Given the description of an element on the screen output the (x, y) to click on. 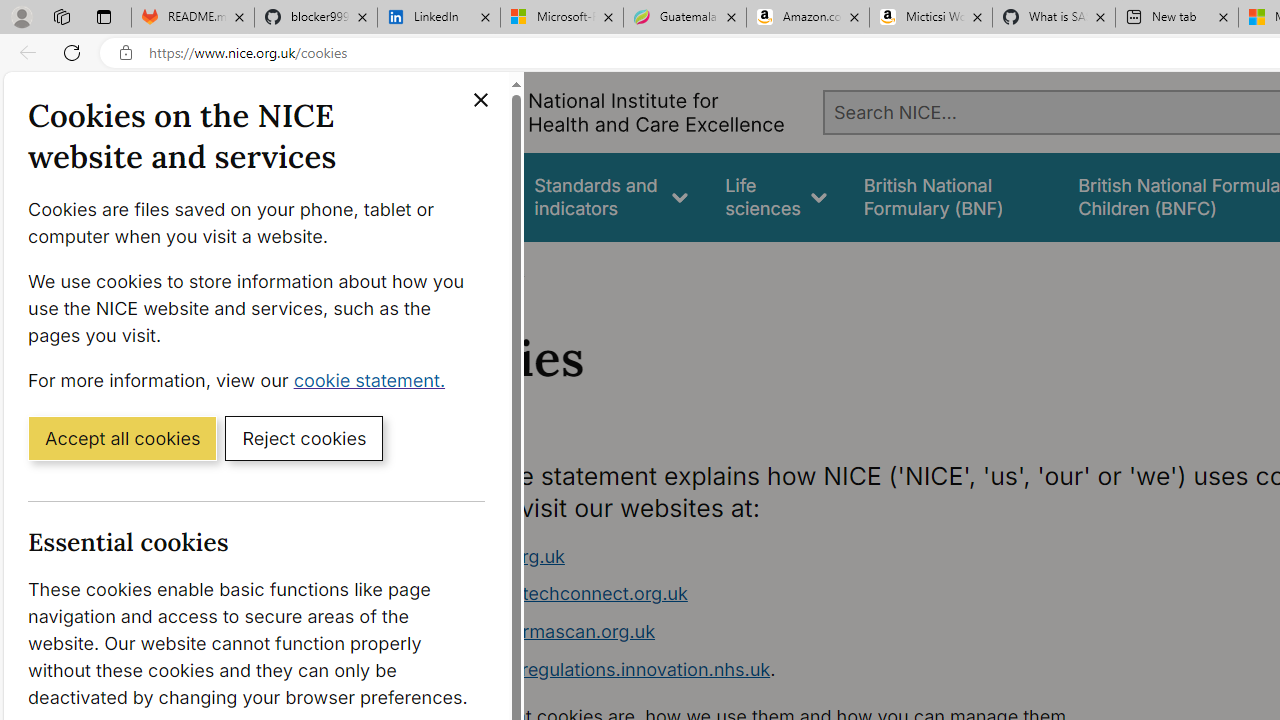
www.ukpharmascan.org.uk (796, 632)
LinkedIn (438, 17)
www.nice.org.uk (492, 556)
Guidance (458, 196)
Home> (433, 268)
